Given the description of an element on the screen output the (x, y) to click on. 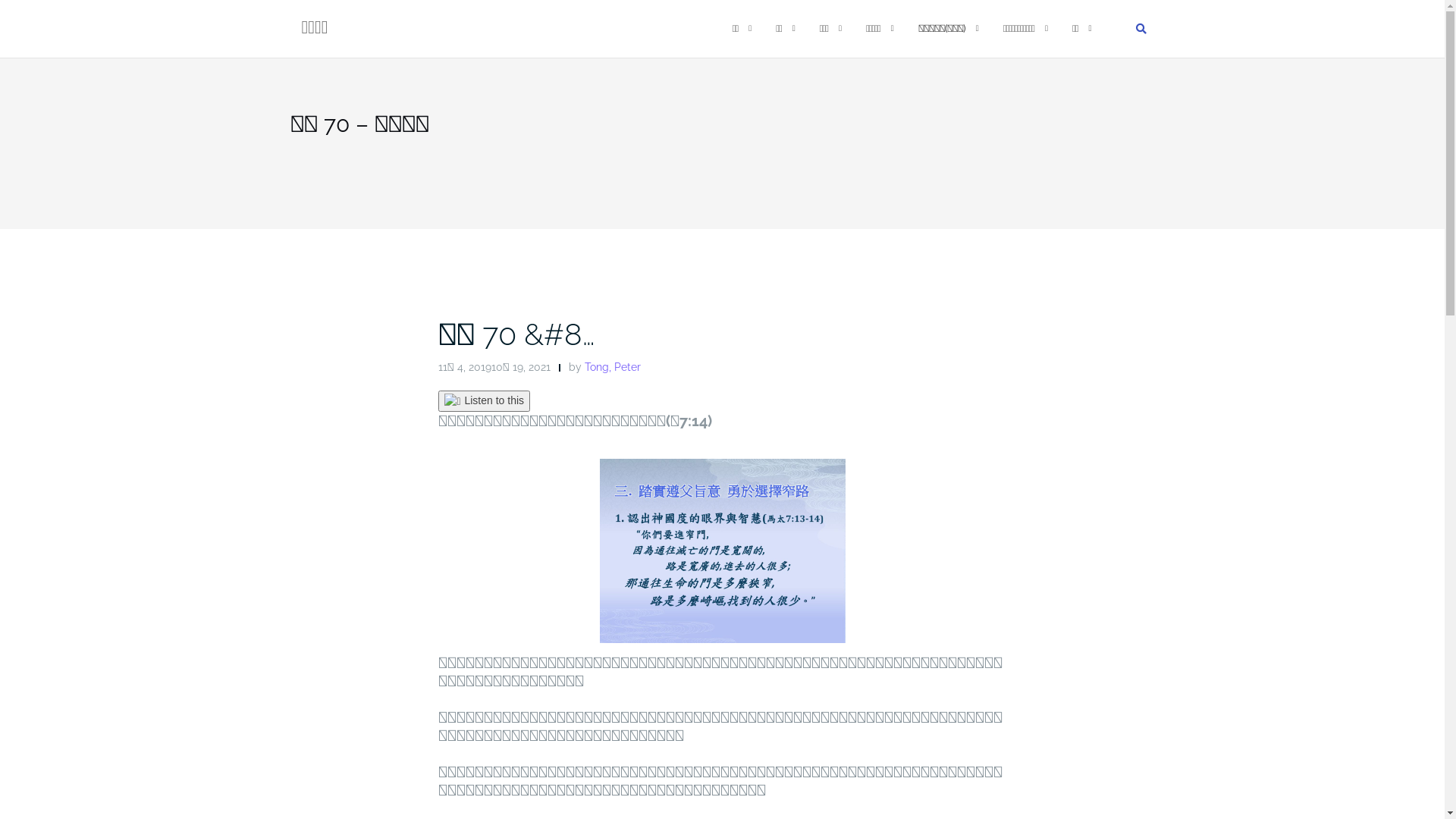
Tong, Peter Element type: text (611, 366)
Listen to this Element type: text (484, 400)
